Given the description of an element on the screen output the (x, y) to click on. 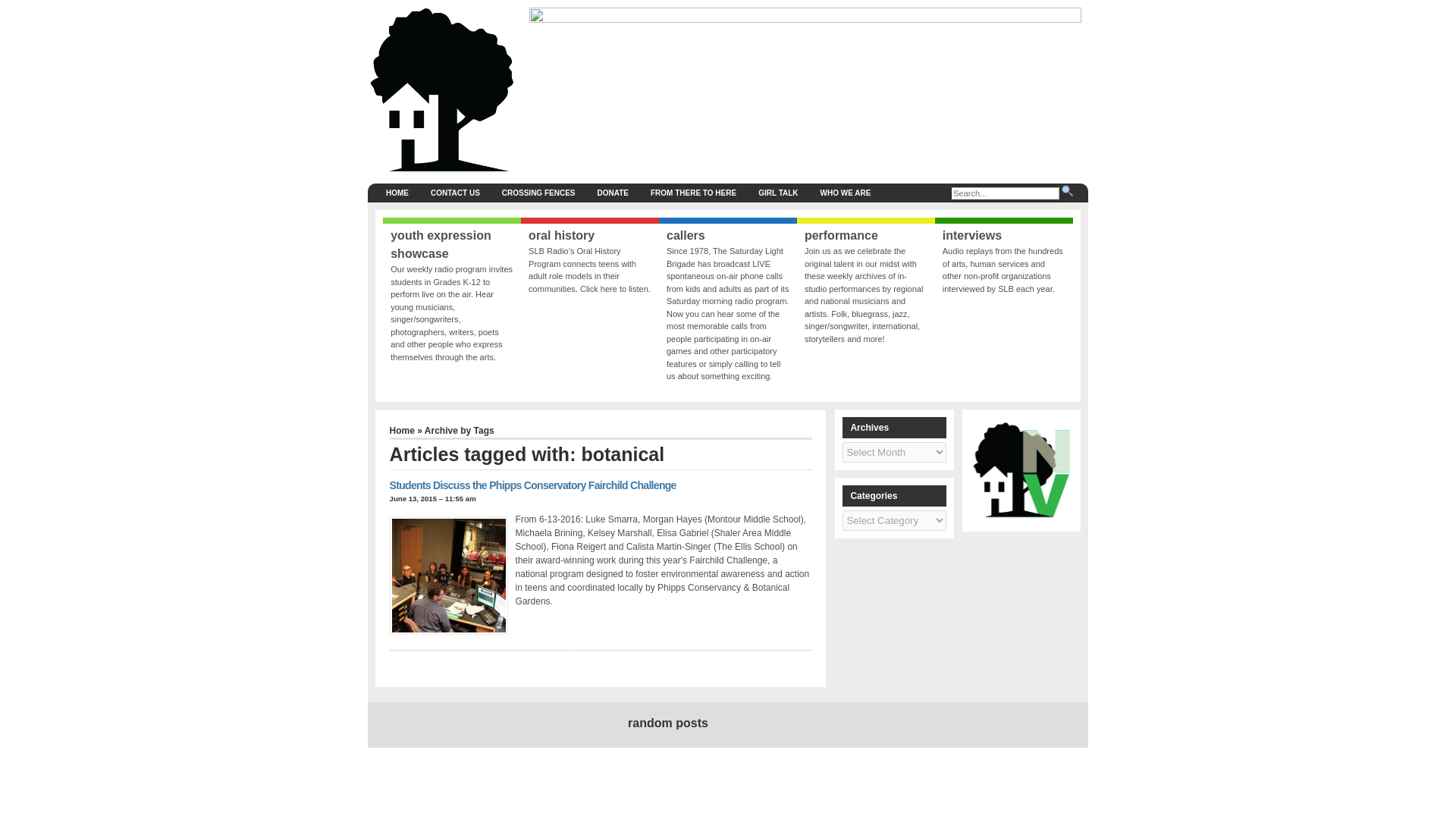
GIRL TALK (778, 192)
WHO WE ARE (845, 192)
Students Discuss the Phipps Conservatory Fairchild Challenge (533, 485)
Students Discuss the Phipps Conservatory Fairchild Challenge (449, 575)
HOME (397, 192)
CONTACT US (455, 192)
DONATE (612, 192)
CROSSING FENCES (539, 192)
Students Discuss the Phipps Conservatory Fairchild Challenge (533, 485)
Home (402, 430)
FROM THERE TO HERE (693, 192)
